Given the description of an element on the screen output the (x, y) to click on. 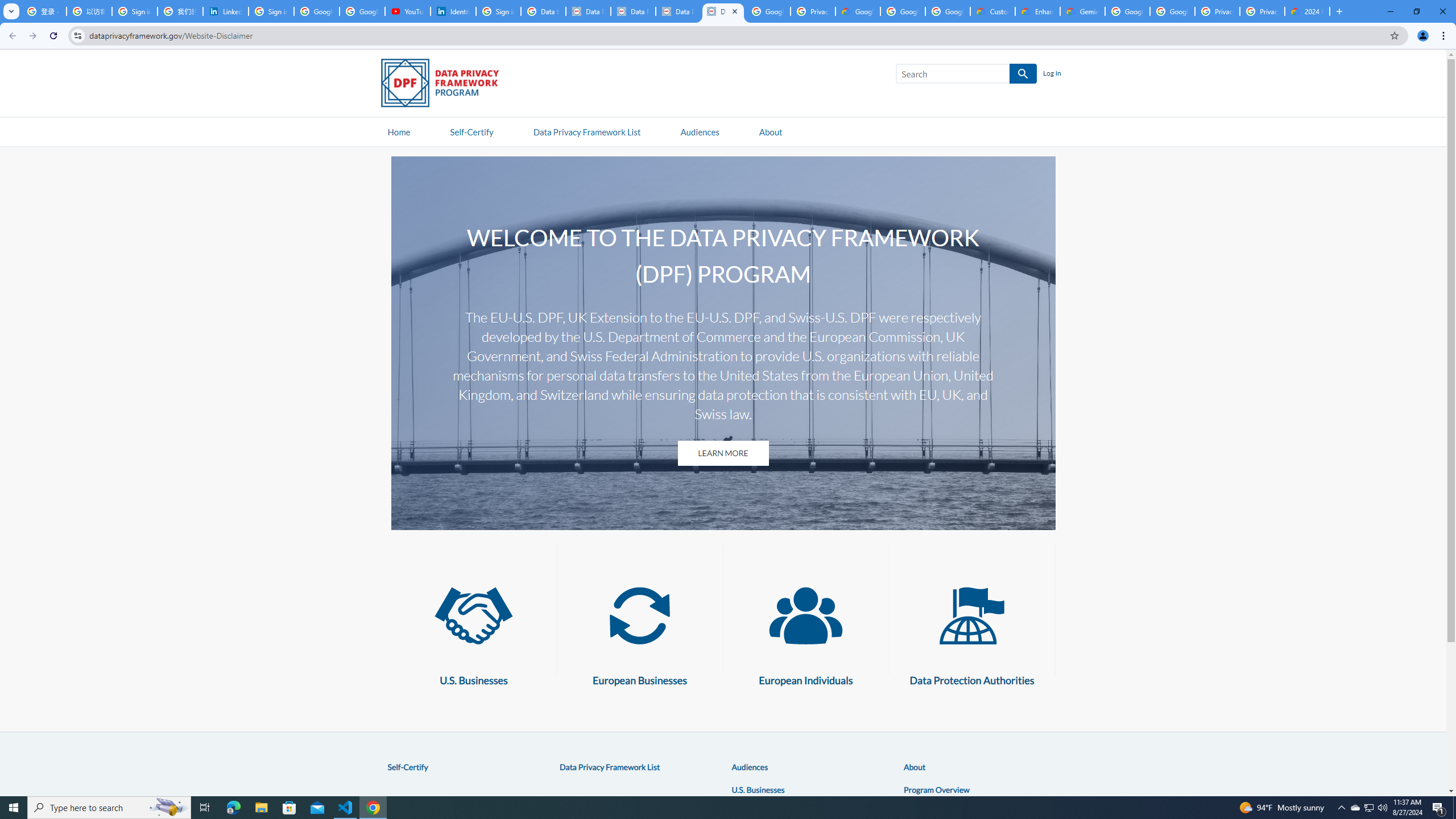
LEARN MORE (722, 453)
AutomationID: navitem2 (769, 131)
Search SEARCH (965, 75)
Data Privacy Framework (678, 11)
Data Privacy Framework (587, 11)
Data Privacy Framework List (610, 766)
Sign in - Google Accounts (134, 11)
